Given the description of an element on the screen output the (x, y) to click on. 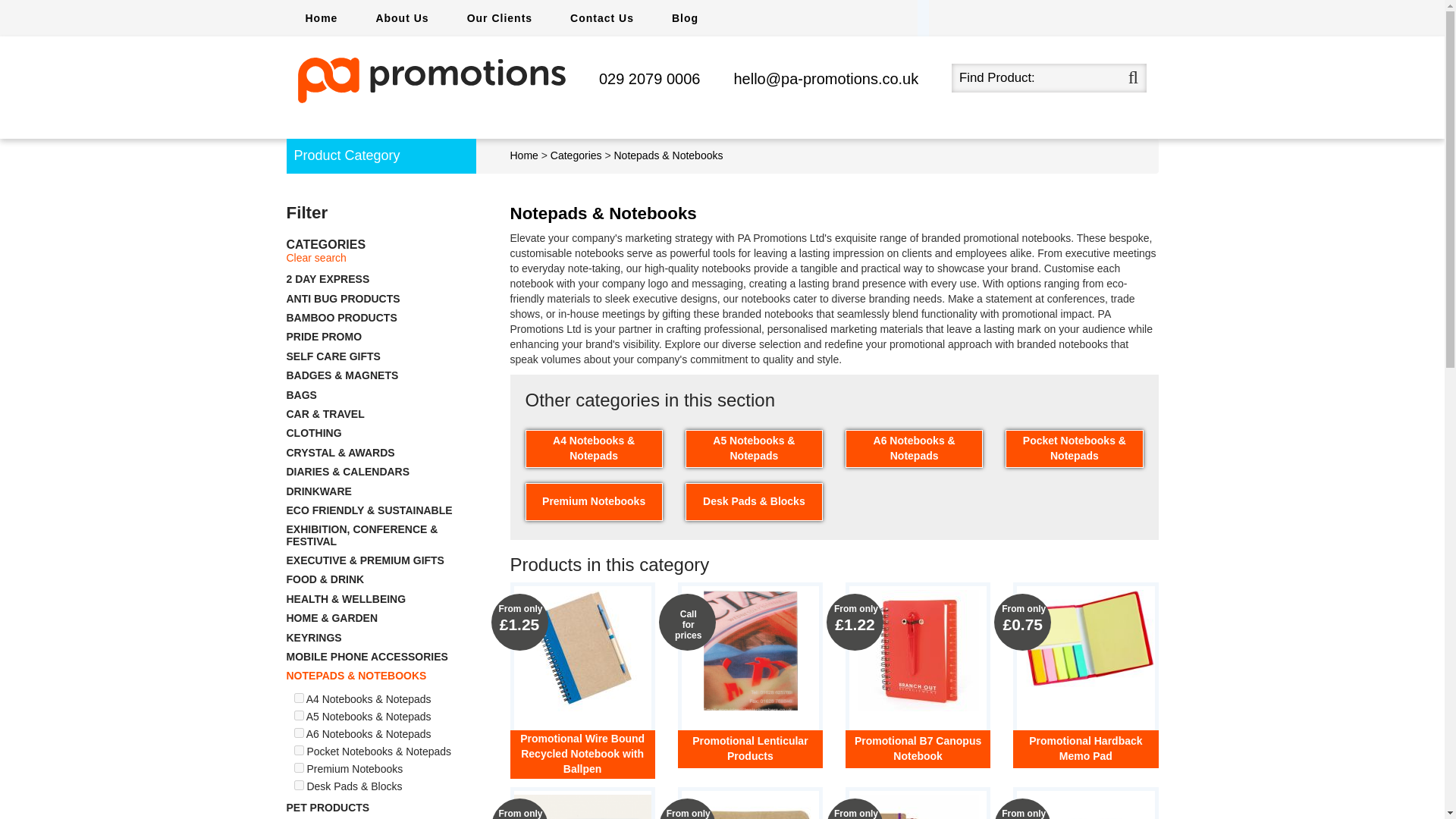
Promotional Hardback Memo Pad (1085, 638)
298 (299, 715)
97 (299, 785)
Contact Us (601, 18)
350 (299, 767)
Promotional Sorrel Notebook Natural (917, 806)
Promotional Wiropod Desk Journal (581, 806)
029 2079 0006 (649, 78)
Blog (684, 18)
299 (299, 732)
